Given the description of an element on the screen output the (x, y) to click on. 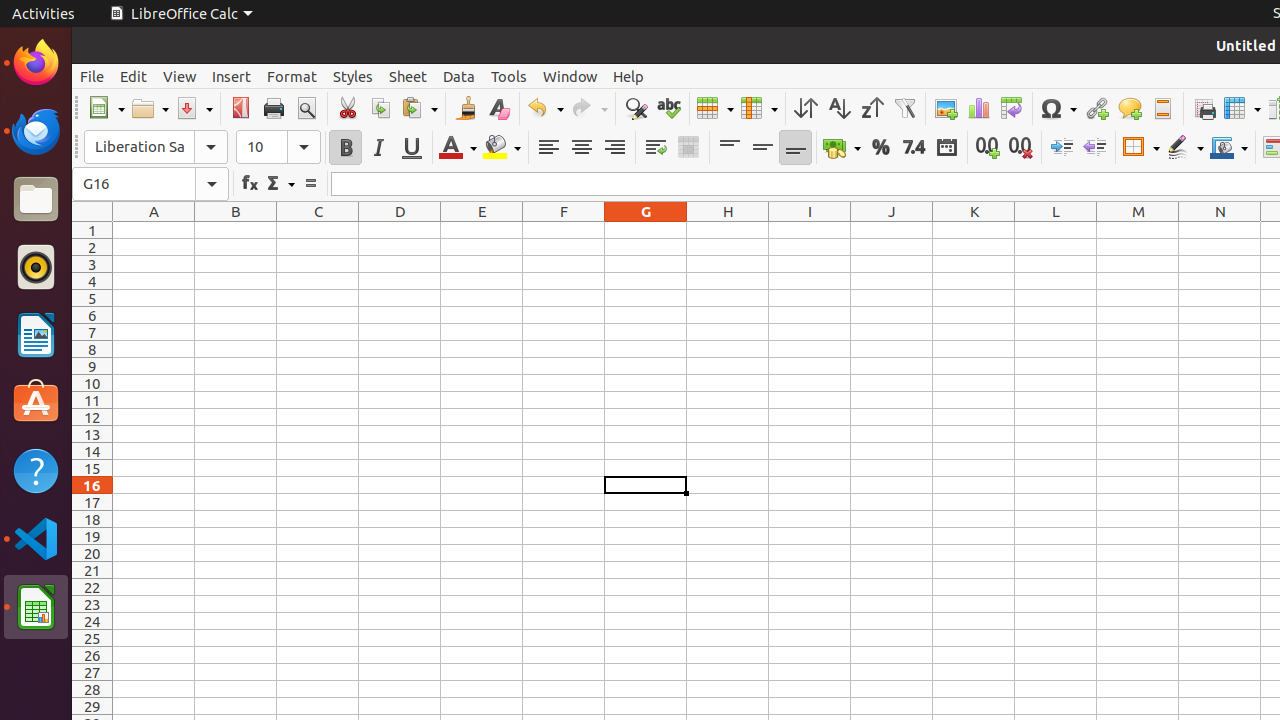
Sort Ascending Element type: push-button (838, 108)
H1 Element type: table-cell (728, 230)
Function Wizard Element type: push-button (249, 183)
Insert Element type: menu (231, 76)
Window Element type: menu (570, 76)
